Given the description of an element on the screen output the (x, y) to click on. 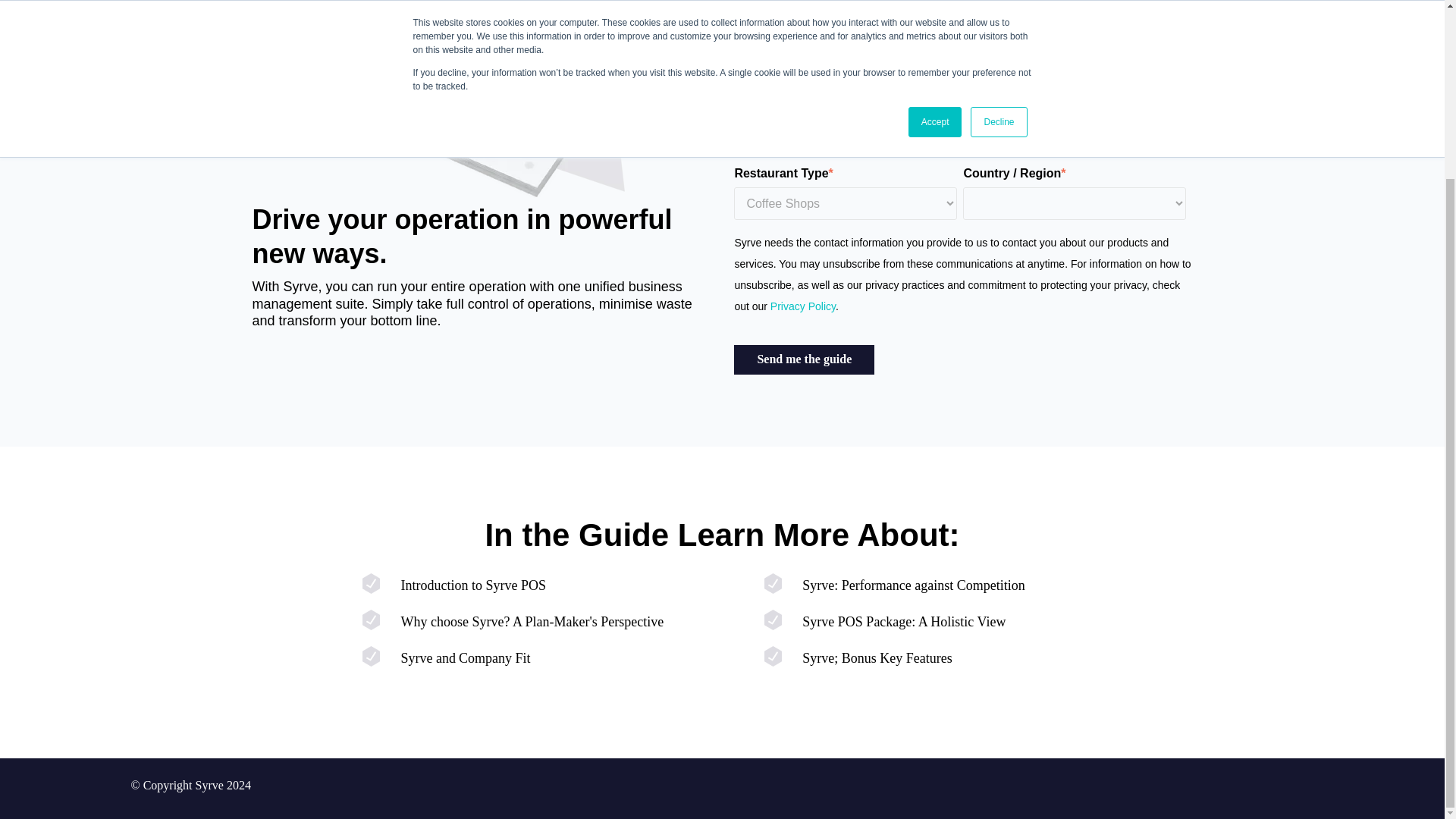
Send me the guide (804, 358)
Send me the guide (804, 358)
Privacy Policy (801, 306)
